Given the description of an element on the screen output the (x, y) to click on. 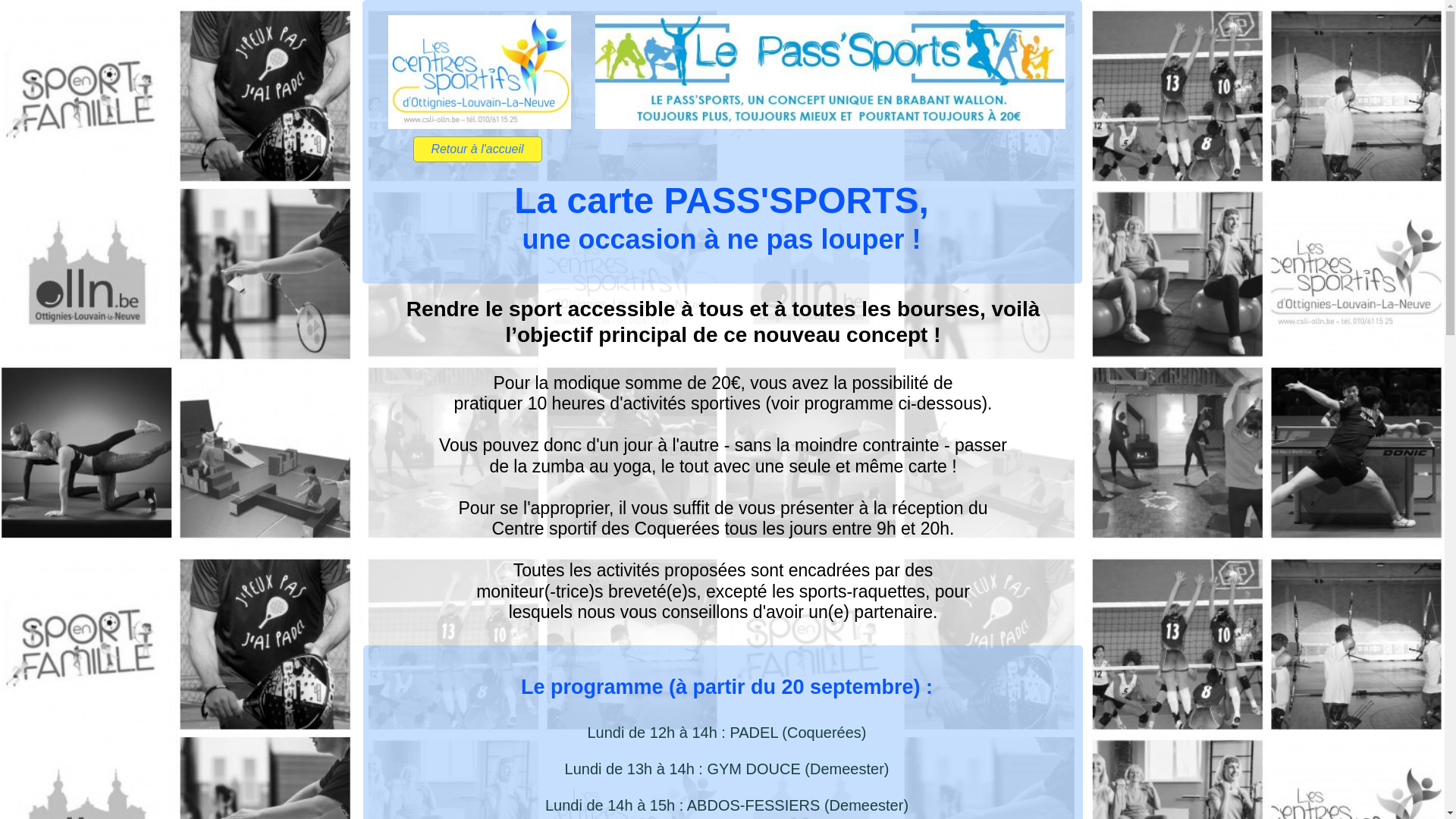
  Element type: text (977, 536)
  Element type: text (636, 6)
  Element type: text (363, 6)
